Given the description of an element on the screen output the (x, y) to click on. 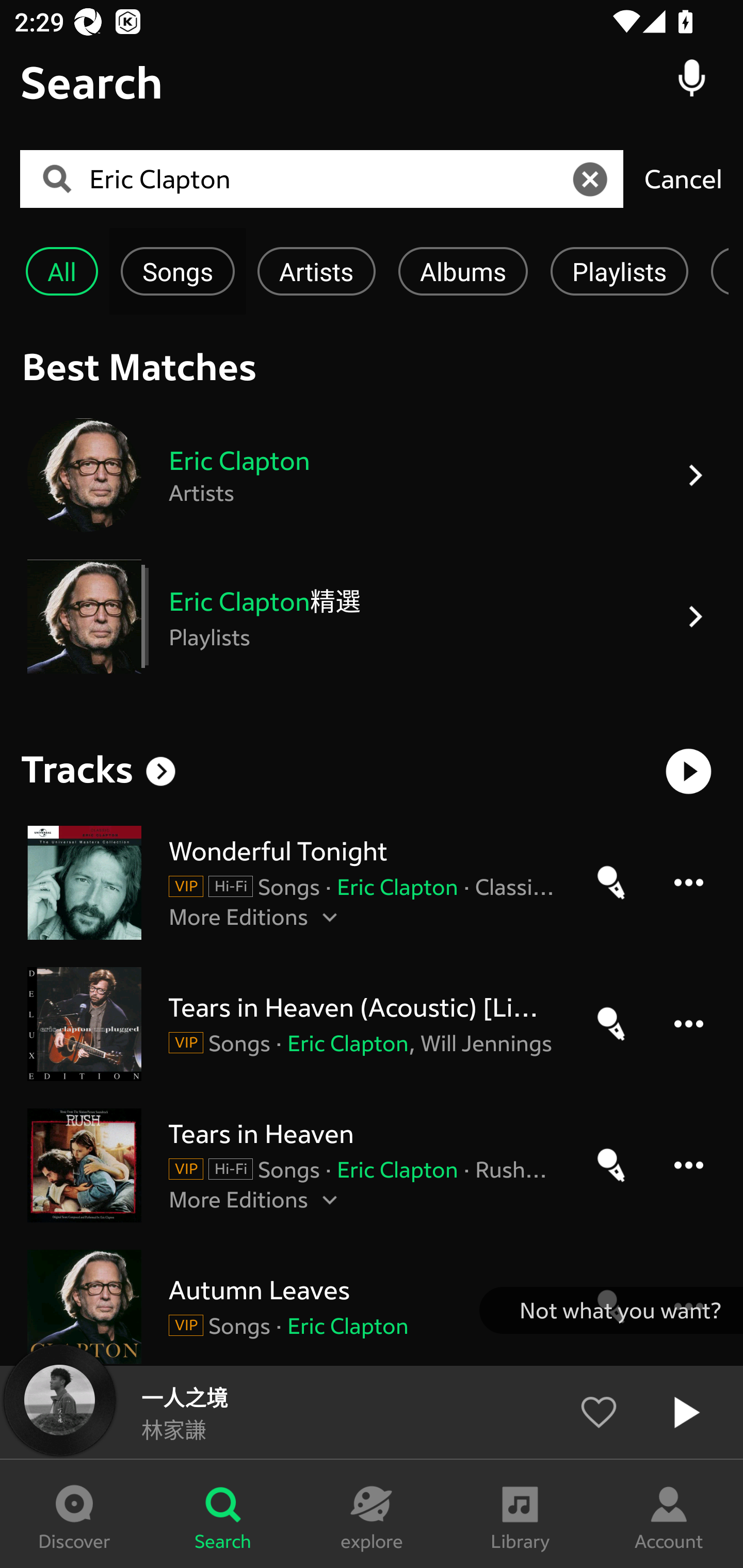
Cancel (683, 178)
Eric Clapton (327, 179)
Songs (177, 271)
Artists (316, 271)
Albums (463, 271)
Playlists (619, 271)
Best Matches (371, 365)
Eric Clapton Artists (371, 474)
Eric Clapton精選 Playlists (371, 616)
Tracks (77, 768)
More Editions (363, 916)
More Editions (363, 1198)
Autumn Leaves VIP Songs · Eric Clapton (371, 1306)
一人之境 林家謙 (371, 1412)
Discover (74, 1513)
explore (371, 1513)
Library (519, 1513)
Account (668, 1513)
